Given the description of an element on the screen output the (x, y) to click on. 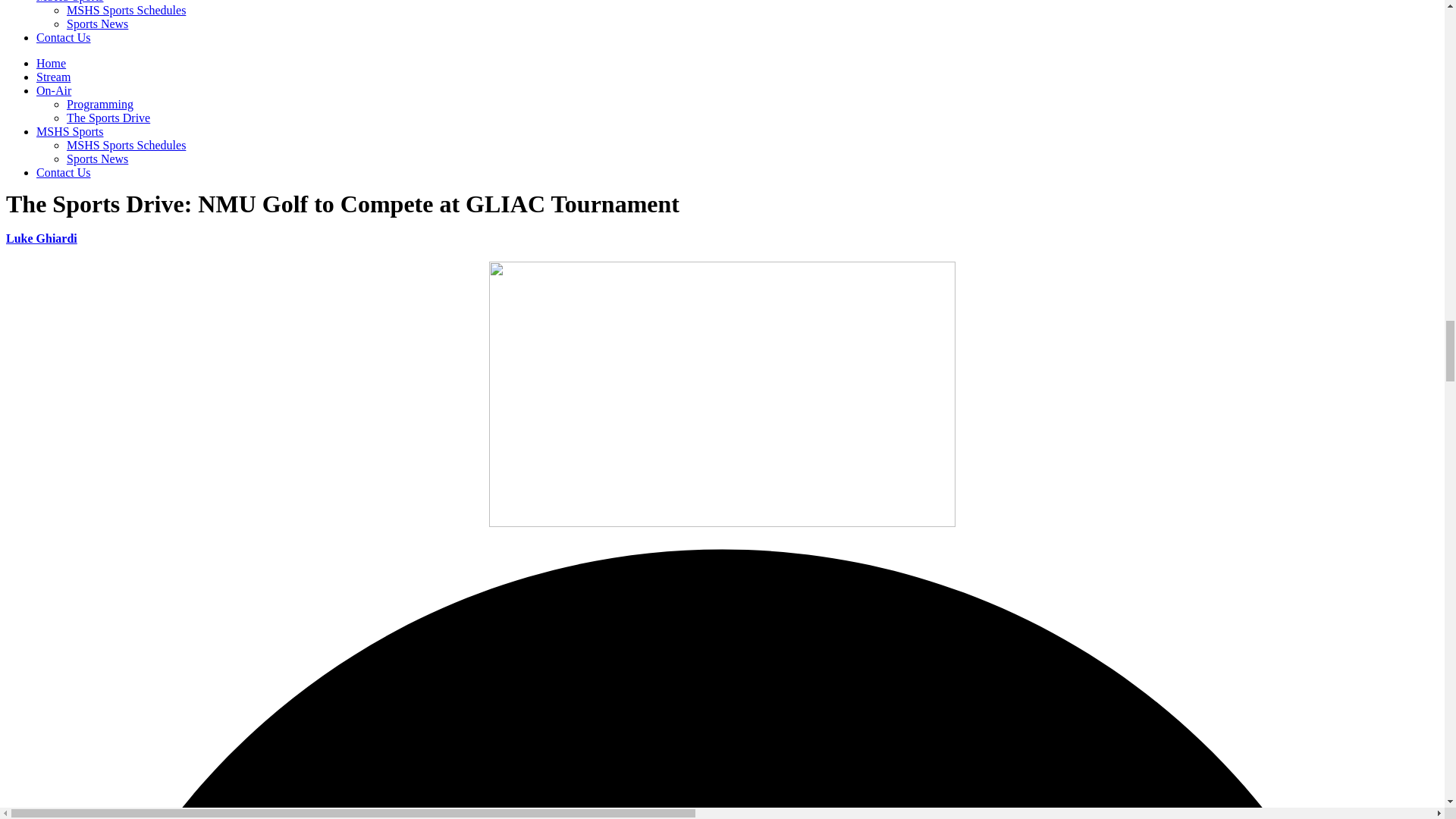
Contact Us (63, 37)
Contact Us (63, 172)
The Sports Drive (107, 117)
On-Air (53, 90)
Programming (99, 103)
MSHS Sports Schedules (126, 144)
MSHS Sports (69, 1)
Sports News (97, 158)
MSHS Sports (69, 131)
Sports News (97, 23)
